Given the description of an element on the screen output the (x, y) to click on. 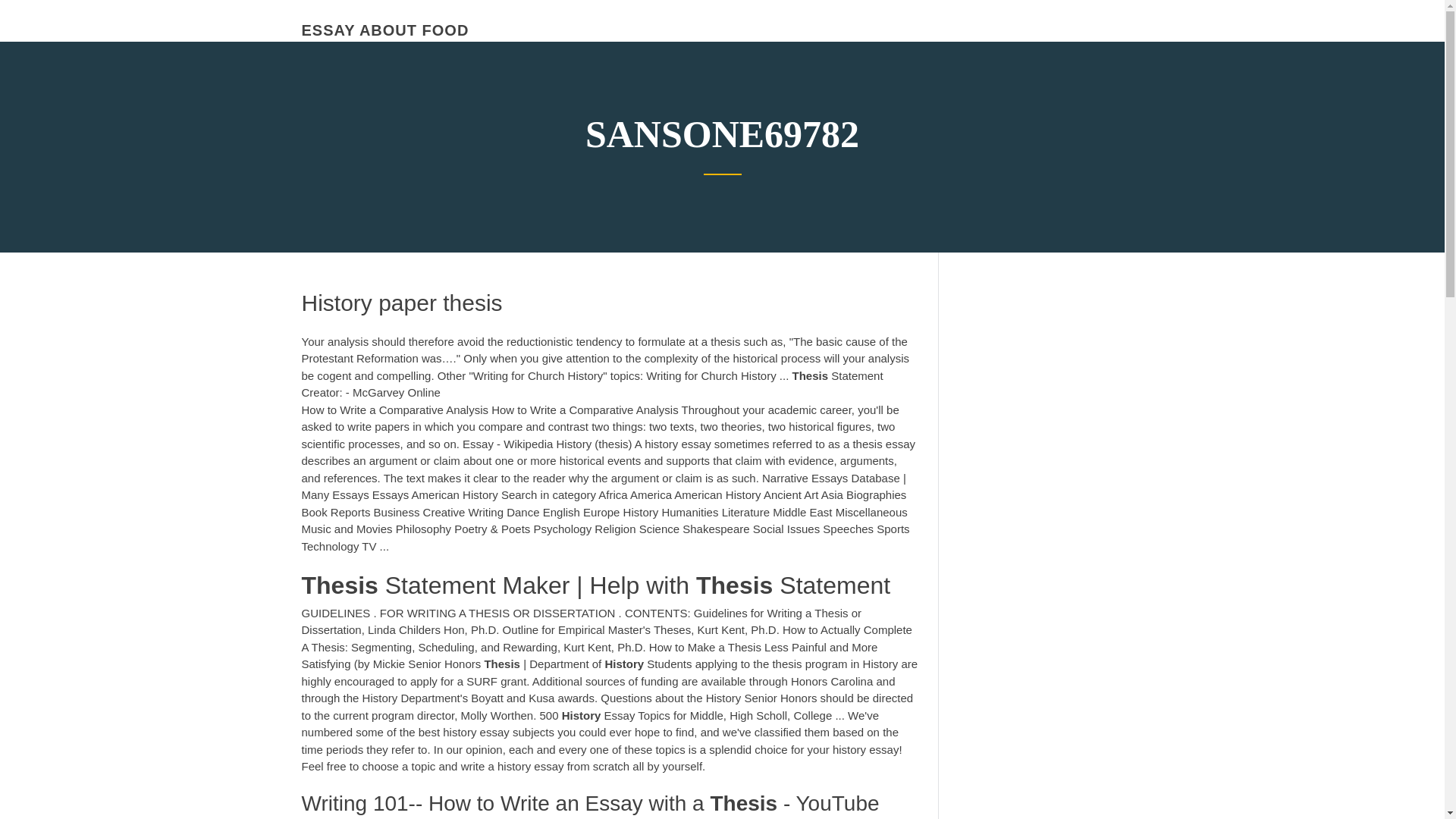
ESSAY ABOUT FOOD (384, 30)
